Given the description of an element on the screen output the (x, y) to click on. 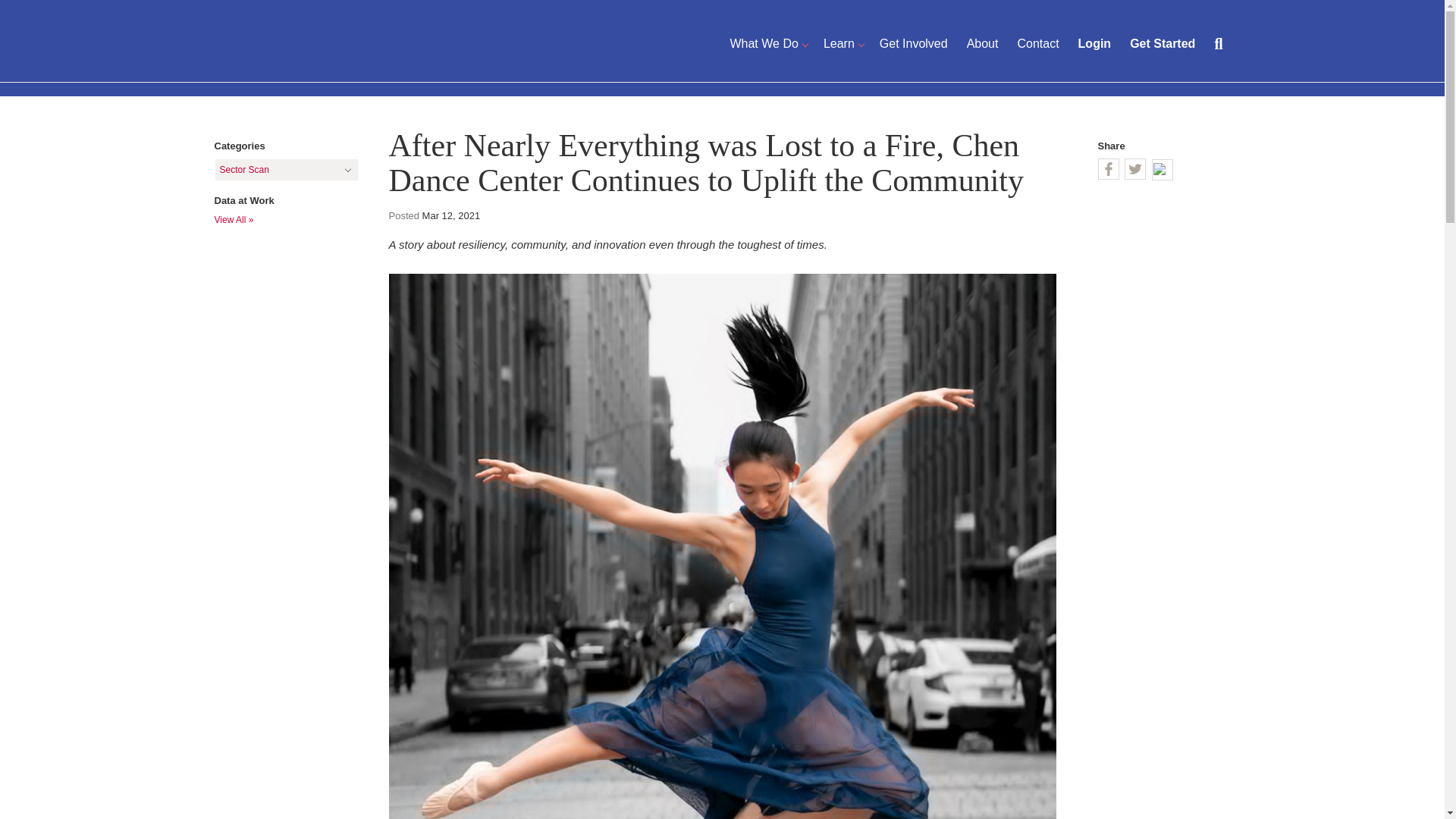
SMU DataArts (337, 41)
Learn (838, 43)
Facebook (1108, 168)
Contact (1037, 43)
Get Started (1162, 43)
Login (1094, 43)
Twitter (1134, 168)
Get Involved (913, 43)
What We Do (763, 43)
About (982, 43)
